Given the description of an element on the screen output the (x, y) to click on. 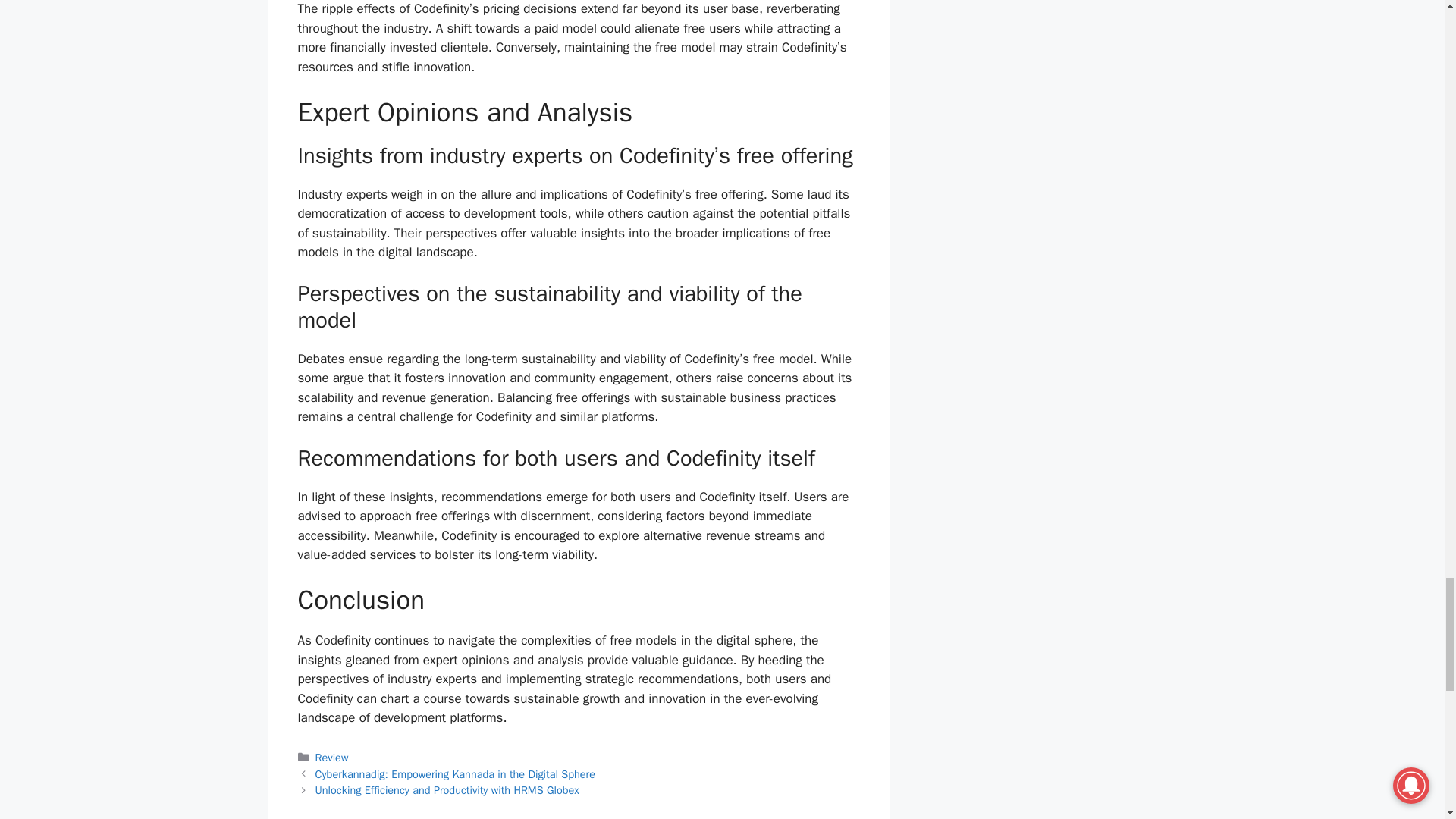
Cyberkannadig: Empowering Kannada in the Digital Sphere (455, 774)
Review (332, 757)
Unlocking Efficiency and Productivity with HRMS Globex (447, 789)
